Given the description of an element on the screen output the (x, y) to click on. 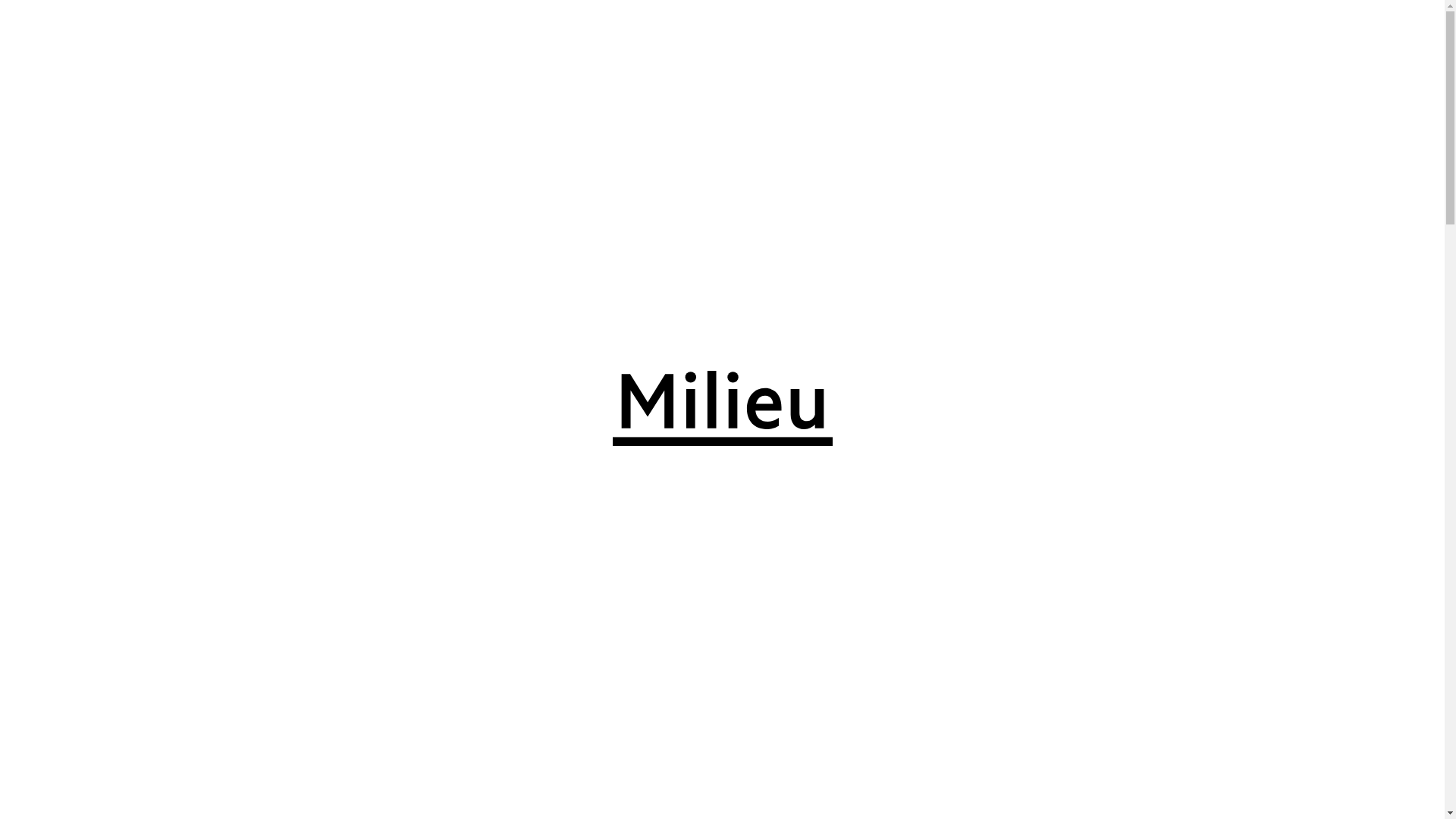
Menu Element type: text (39, 29)
Spaces Element type: text (86, 29)
